Given the description of an element on the screen output the (x, y) to click on. 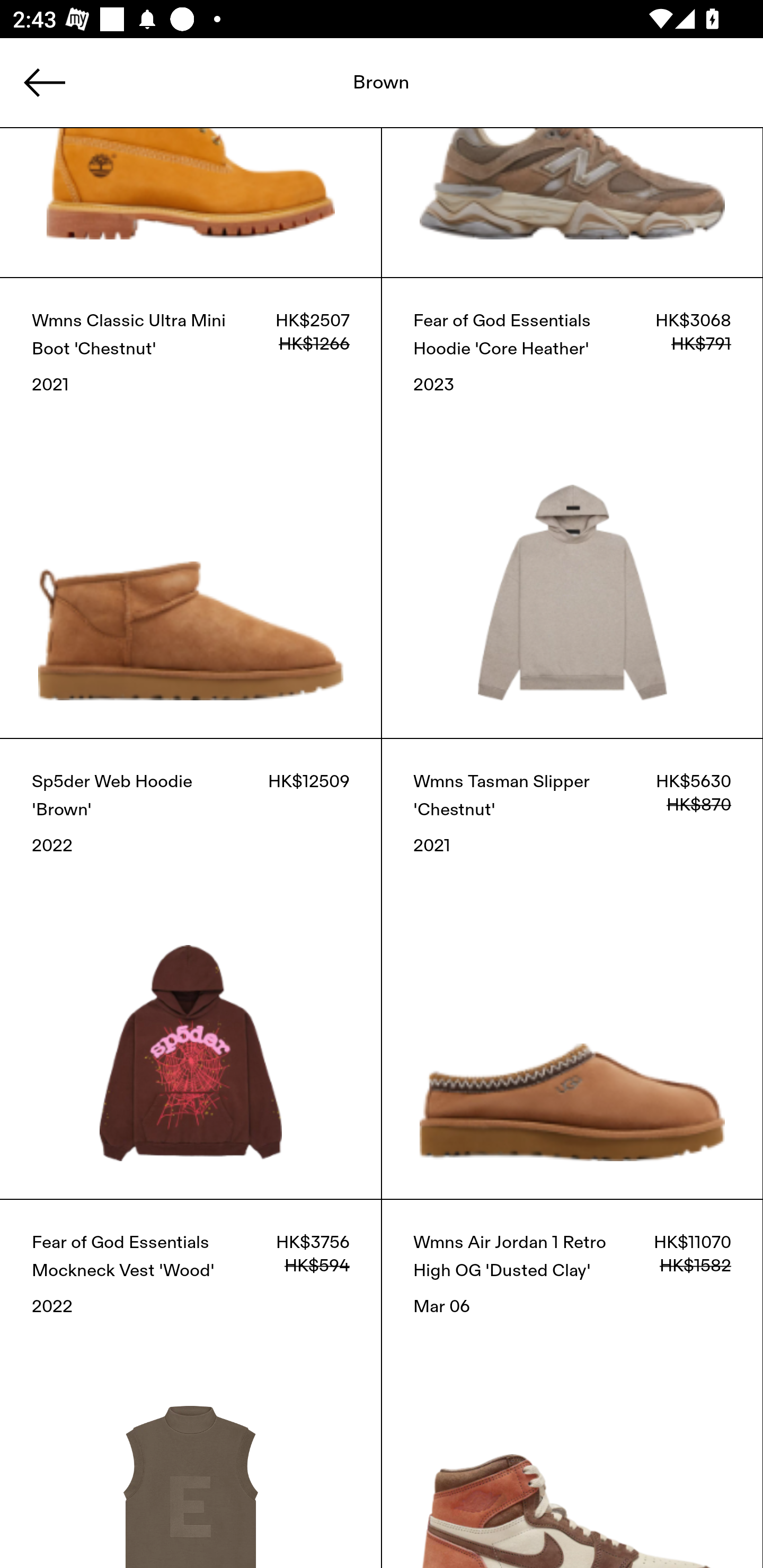
Sp5der Web Hoodie 'Brown' HK$12509 2022 (190, 968)
Wmns Tasman Slipper 'Chestnut' HK$5630 HK$870 2021 (572, 968)
